Given the description of an element on the screen output the (x, y) to click on. 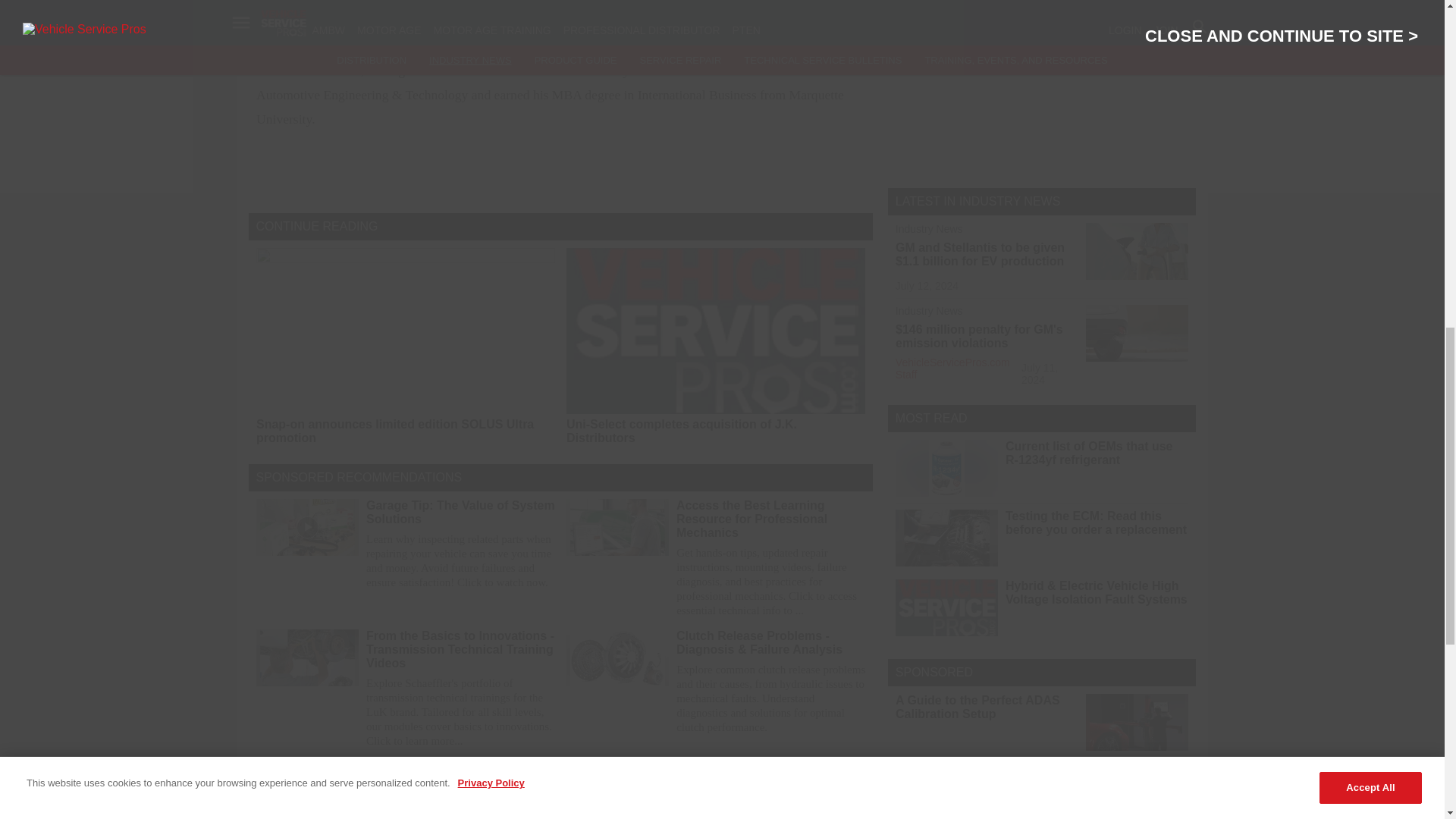
3rd party ad content (1042, 84)
